Given the description of an element on the screen output the (x, y) to click on. 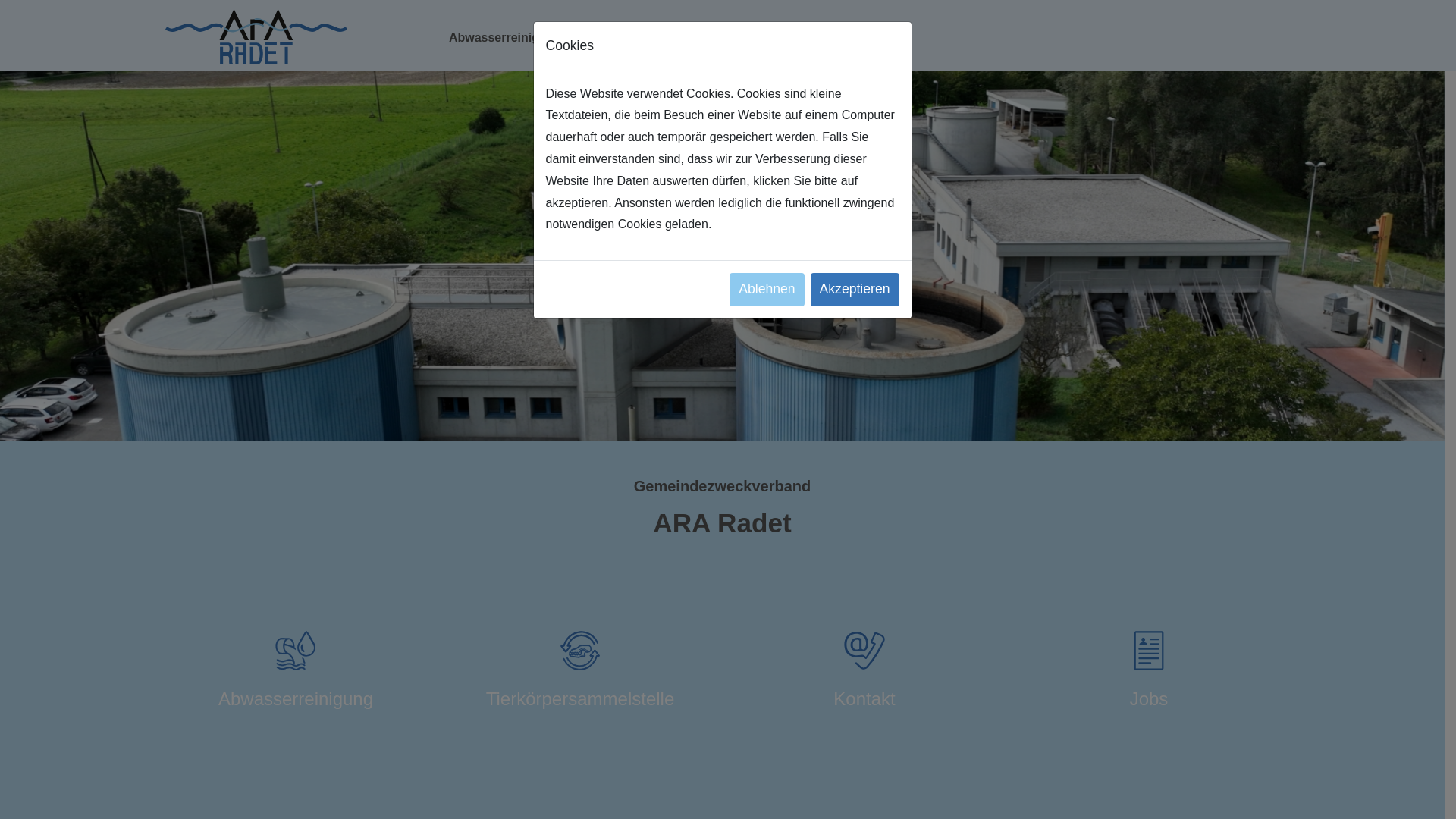
Abwasserreinigung Element type: text (504, 38)
Abwasserreinigung Element type: text (295, 678)
Ablehnen Element type: text (766, 289)
Akzeptieren Element type: text (854, 289)
Jobs Element type: text (1148, 678)
Kontakt Element type: text (864, 678)
